Given the description of an element on the screen output the (x, y) to click on. 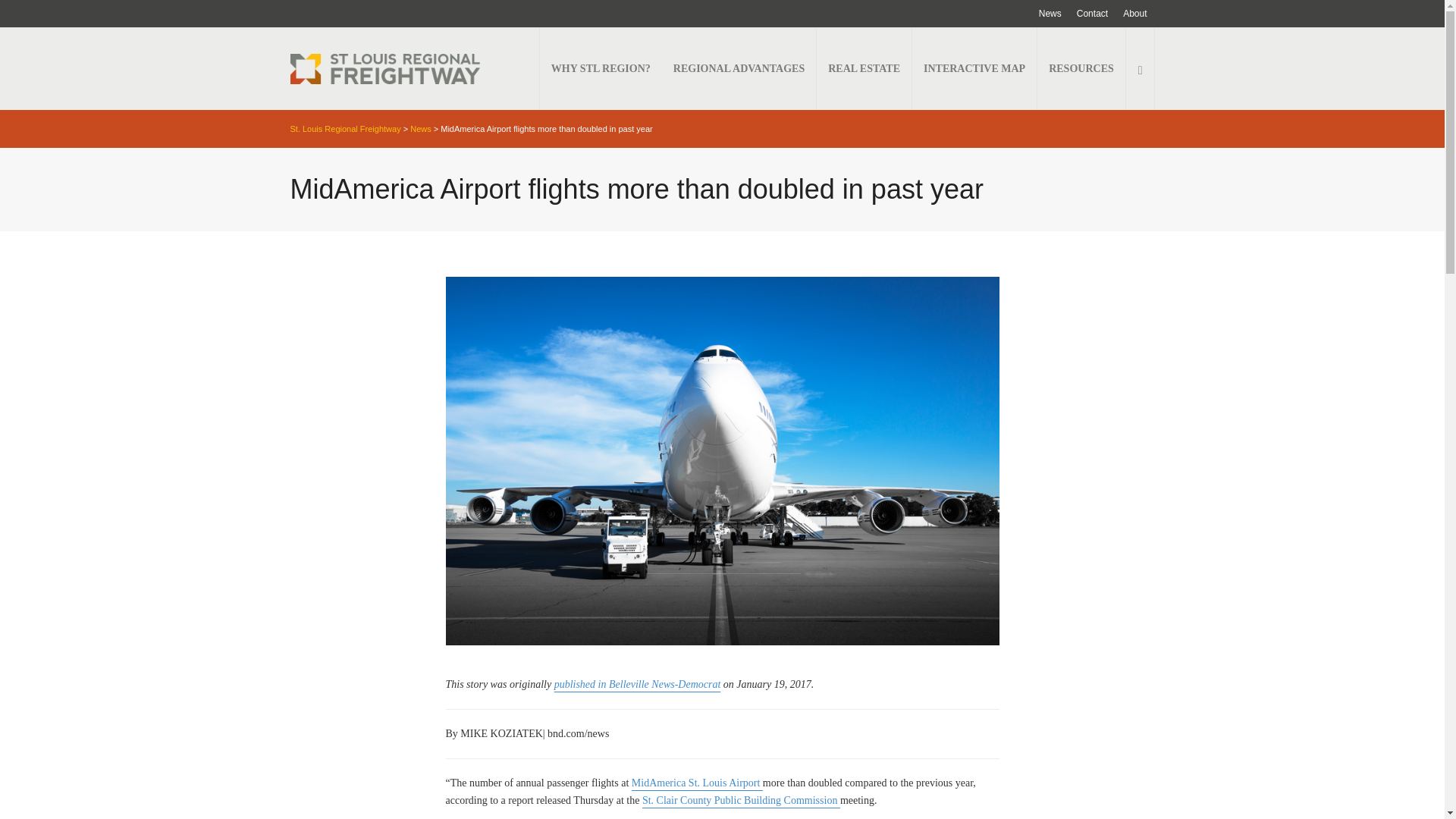
Contact (1091, 13)
About (1134, 13)
WHY STL REGION? (601, 68)
Go to the News Category archives. (420, 128)
Go to St. Louis Regional Freightway. (344, 128)
News (1049, 13)
